Given the description of an element on the screen output the (x, y) to click on. 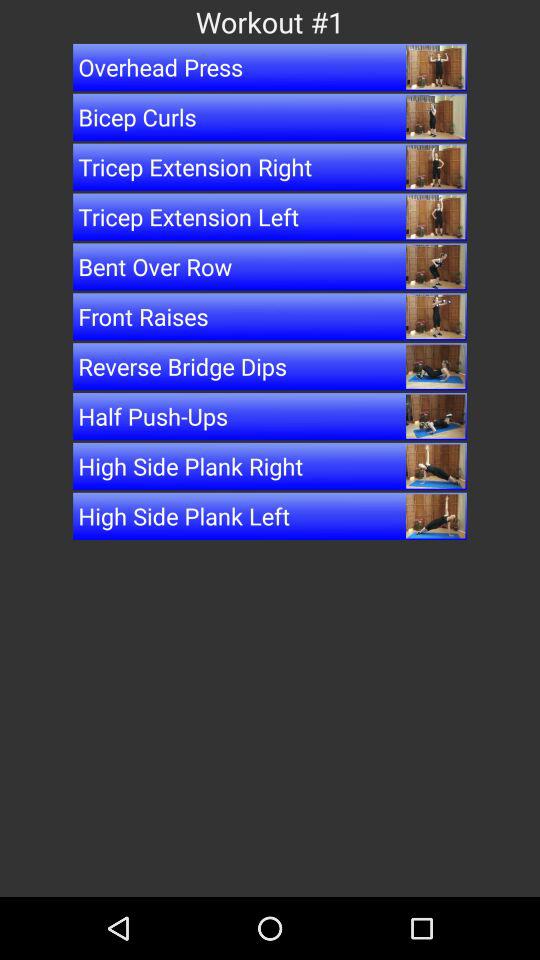
scroll to front raises button (269, 316)
